Given the description of an element on the screen output the (x, y) to click on. 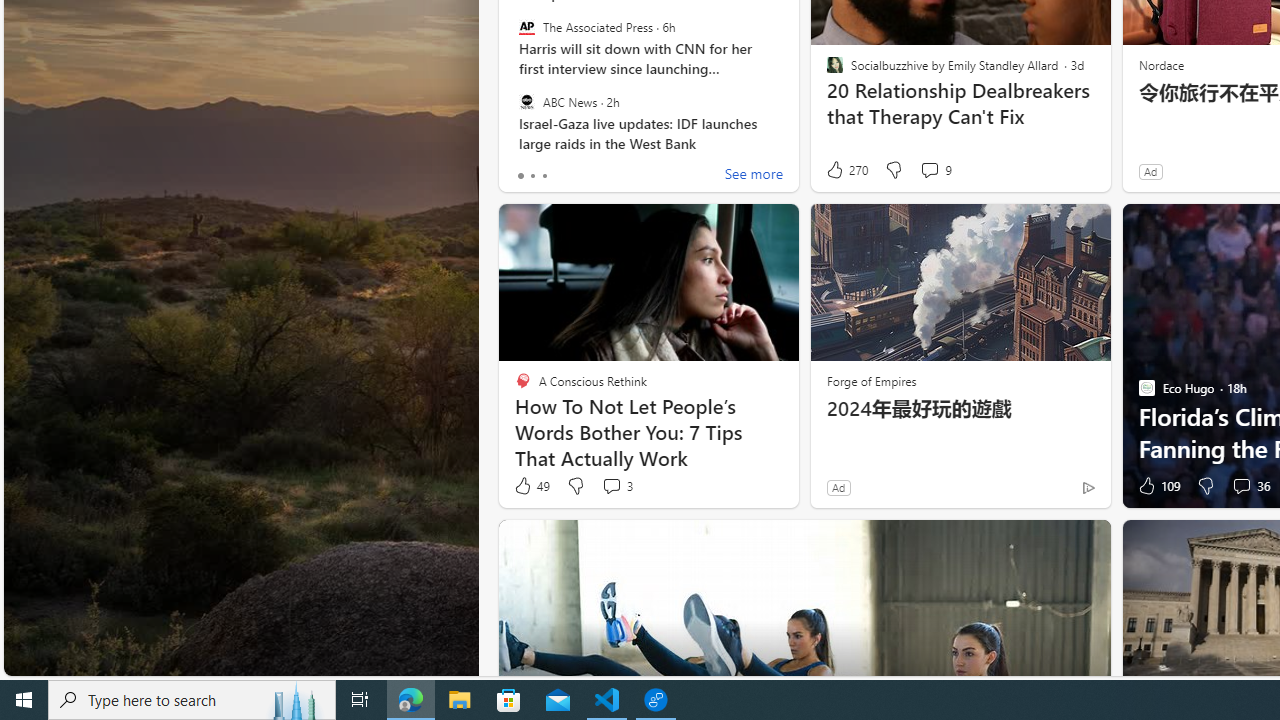
The Associated Press (526, 27)
109 Like (1157, 485)
49 Like (531, 485)
View comments 3 Comment (611, 485)
tab-2 (543, 175)
View comments 36 Comment (1241, 485)
